Given the description of an element on the screen output the (x, y) to click on. 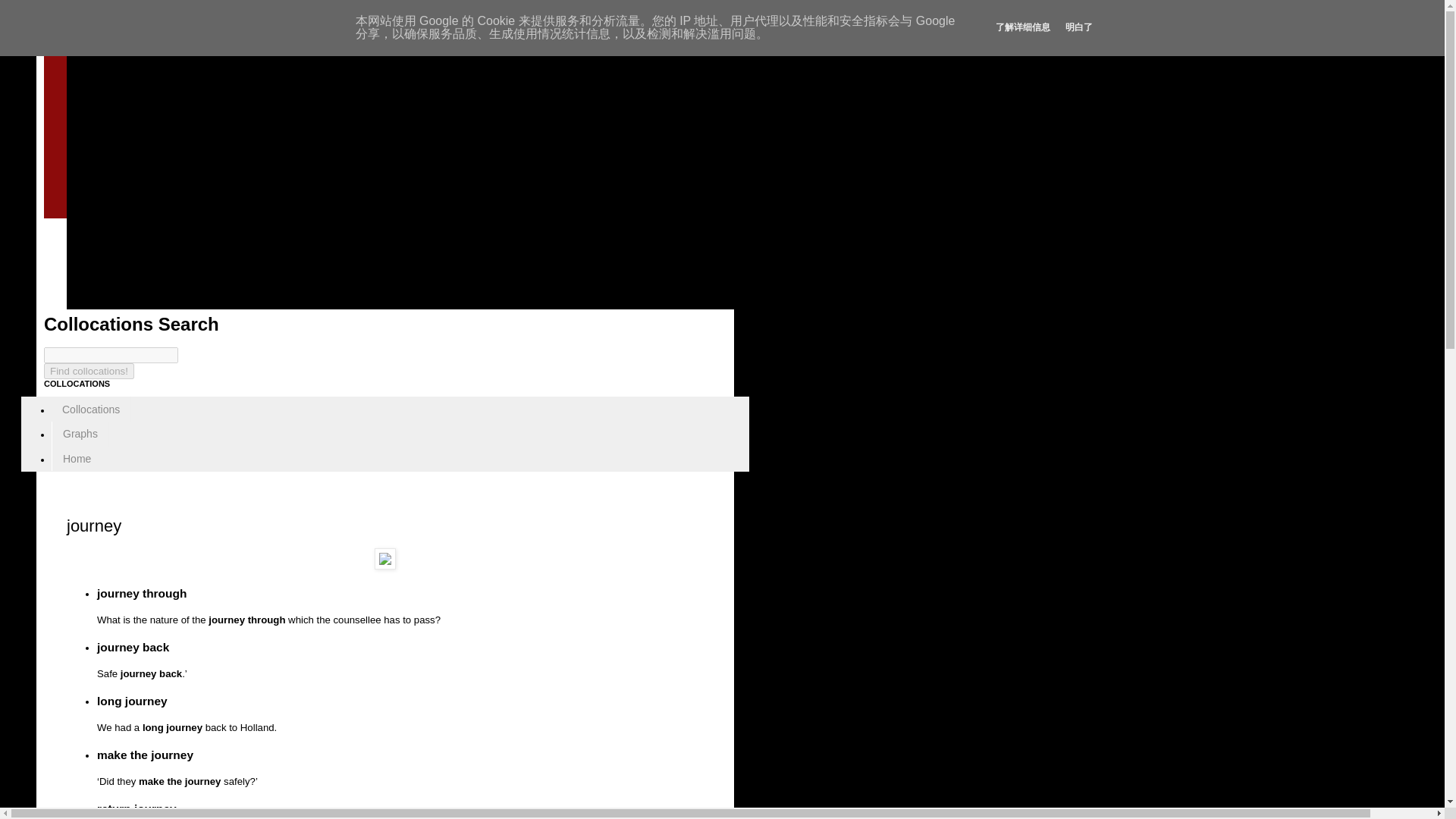
Find collocations! (88, 371)
Graphs (79, 433)
Home (75, 458)
English Collocations (271, 116)
Collocations (90, 408)
